Given the description of an element on the screen output the (x, y) to click on. 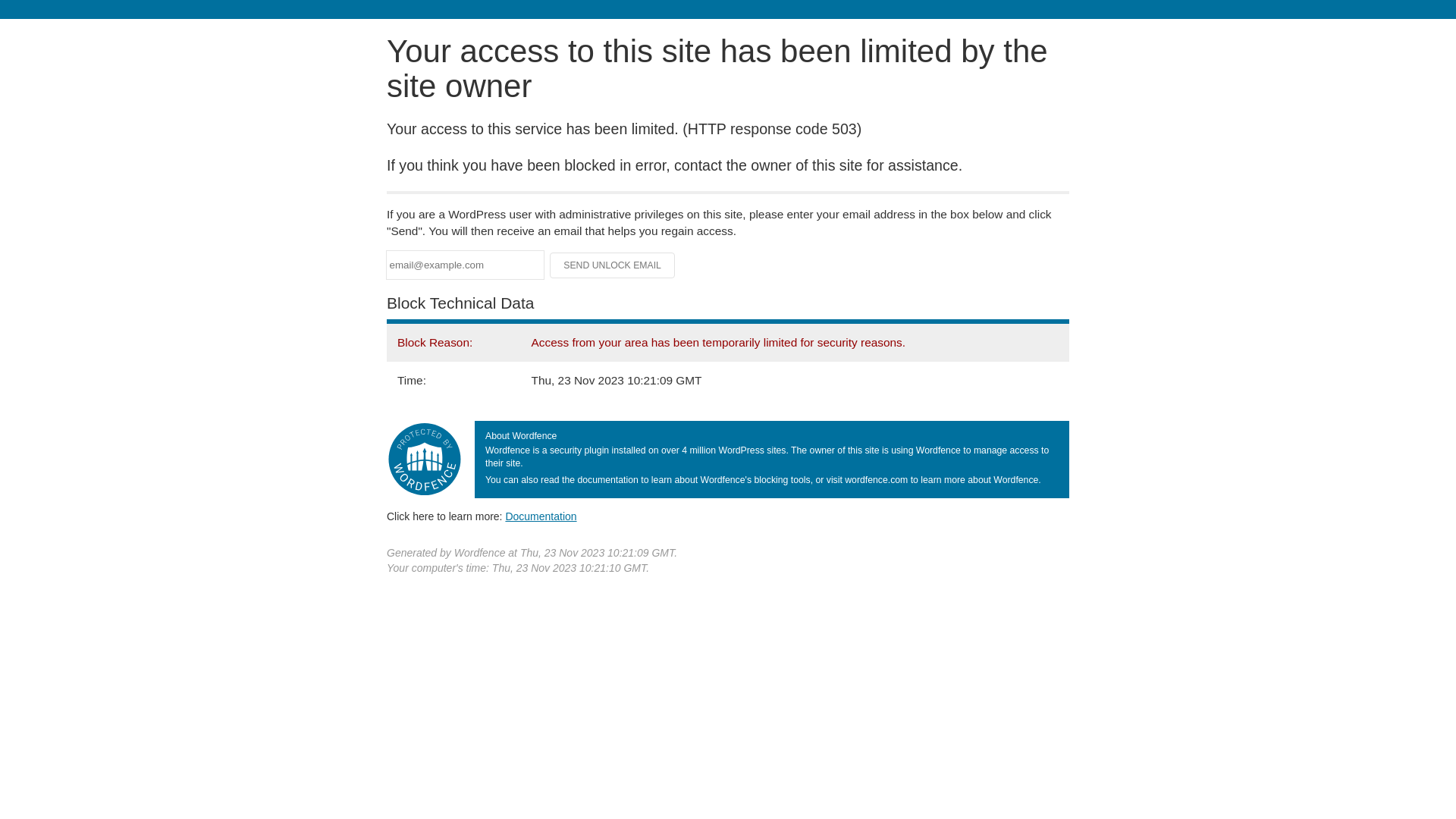
Documentation Element type: text (540, 516)
Send Unlock Email Element type: text (612, 265)
